Given the description of an element on the screen output the (x, y) to click on. 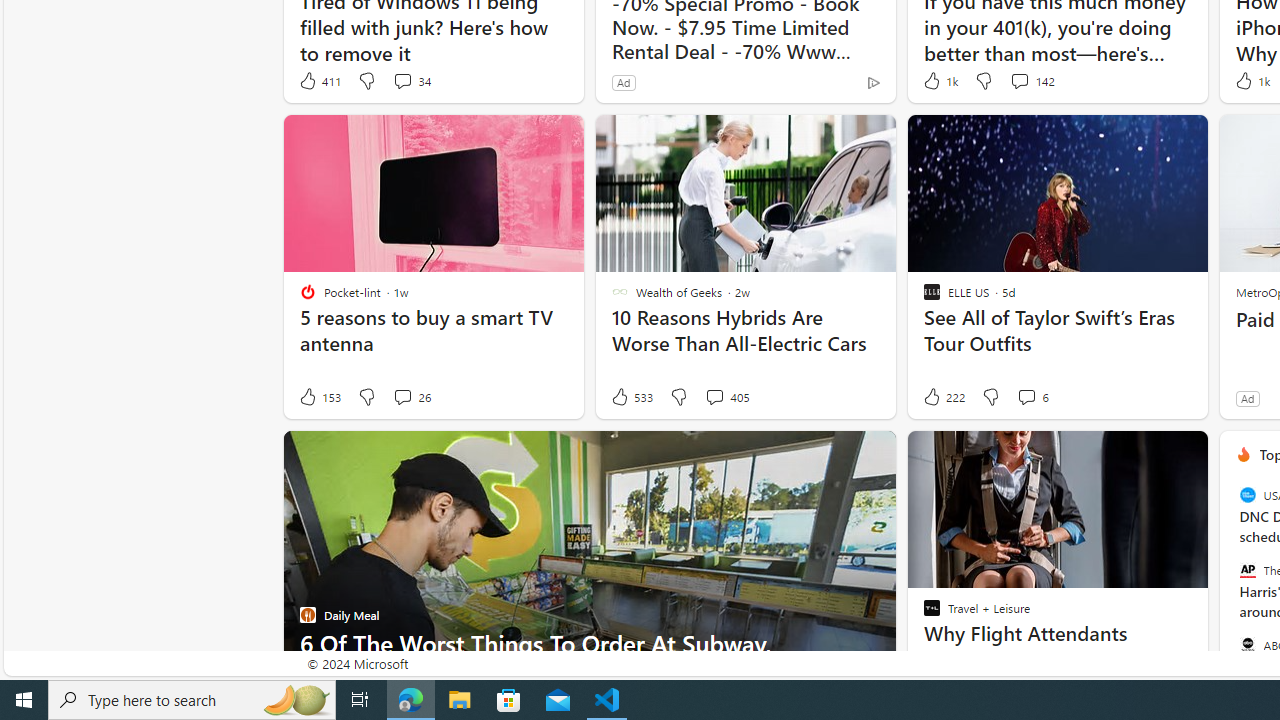
View comments 405 Comment (714, 396)
153 Like (319, 397)
1k Like (1250, 80)
533 Like (630, 397)
View comments 26 Comment (402, 396)
previous (1229, 583)
View comments 34 Comment (402, 80)
USA TODAY (1247, 494)
